Given the description of an element on the screen output the (x, y) to click on. 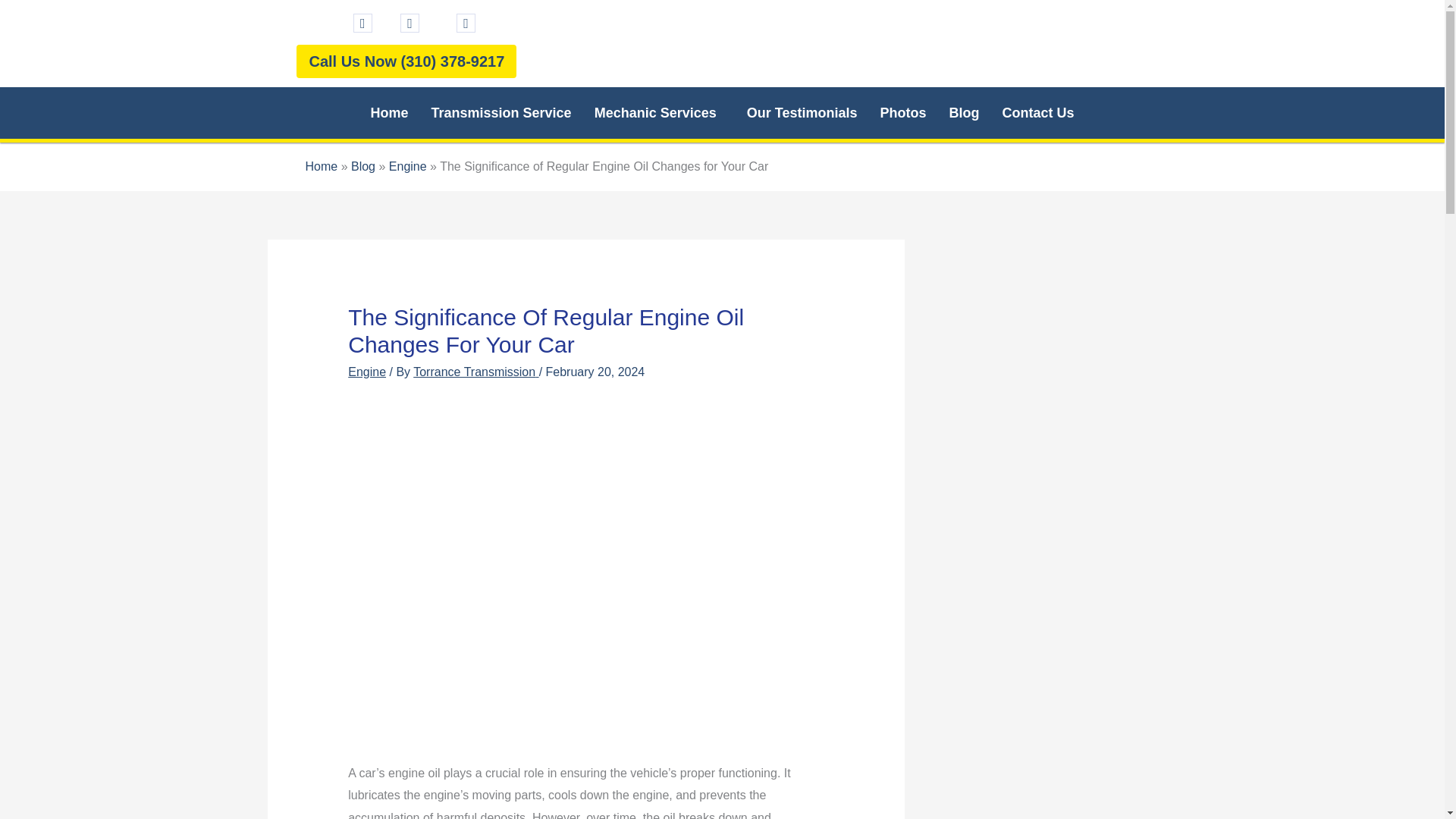
Contact Us (1037, 113)
Home (389, 113)
View all posts by Torrance Transmission (475, 371)
Mechanic Services (659, 113)
Our Testimonials (802, 113)
Transmission Service (501, 113)
Photos (902, 113)
Blog (963, 113)
